Given the description of an element on the screen output the (x, y) to click on. 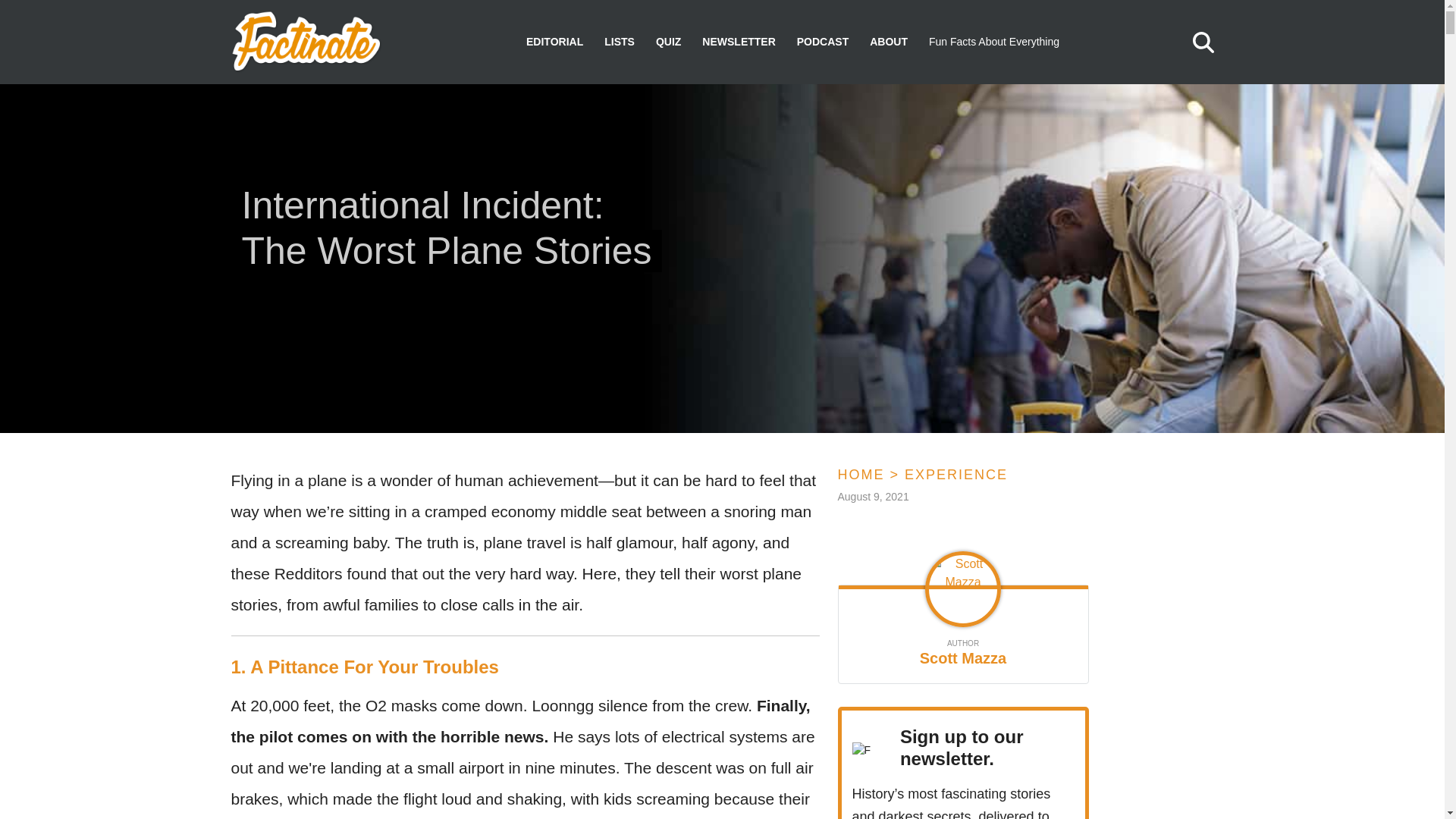
LISTS (619, 41)
PODCAST (822, 41)
EDITORIAL (554, 41)
NEWSLETTER (737, 41)
QUIZ (668, 41)
International Incident: The Worst Plane Stories (451, 231)
ABOUT (888, 41)
